Given the description of an element on the screen output the (x, y) to click on. 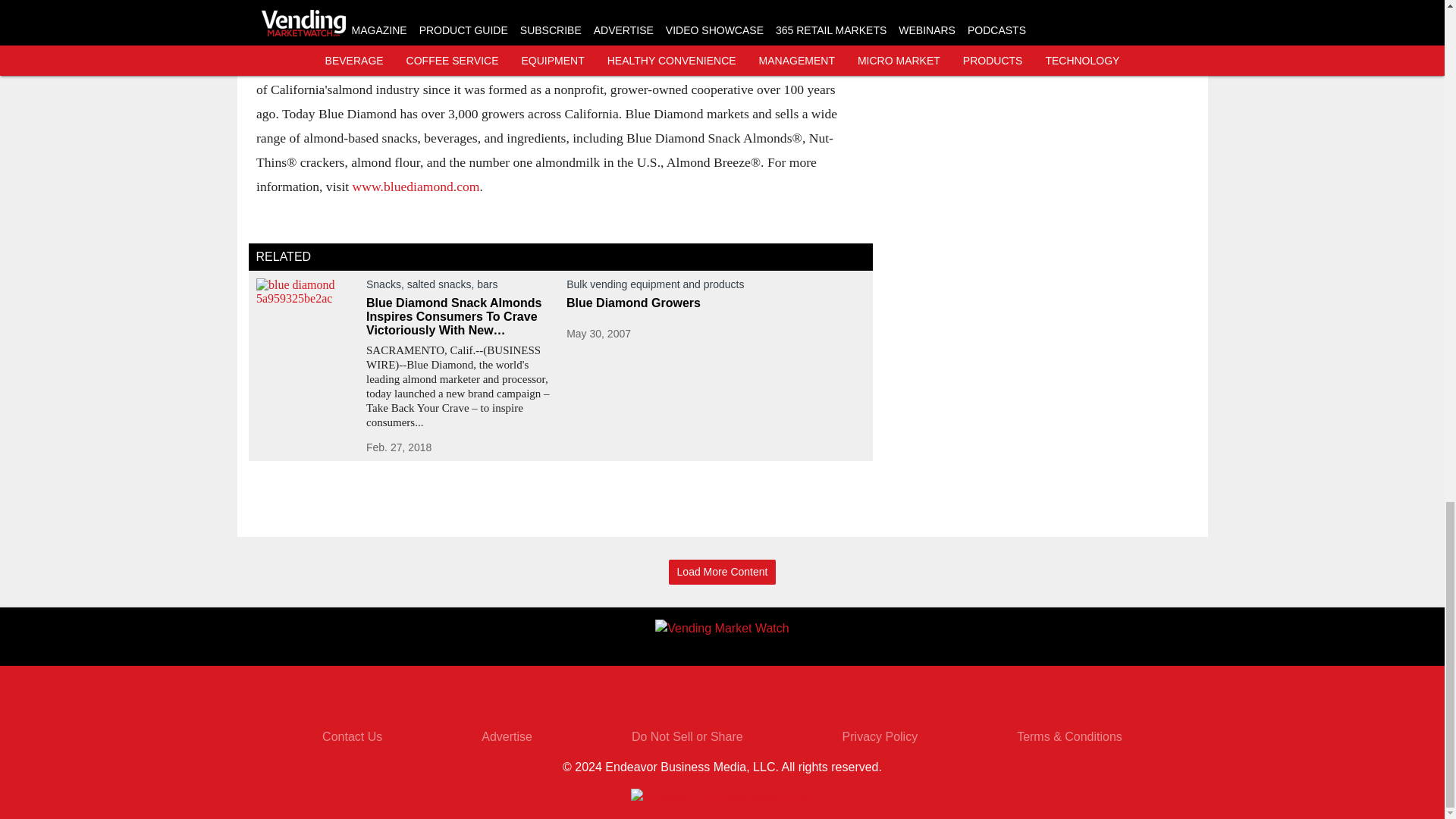
Blue Diamond Growers (715, 303)
www.bluediamond.com (415, 185)
Bulk vending equipment and products (715, 287)
blue diamond 5a959325be2ac (307, 306)
Snacks, salted snacks, bars (459, 287)
